Given the description of an element on the screen output the (x, y) to click on. 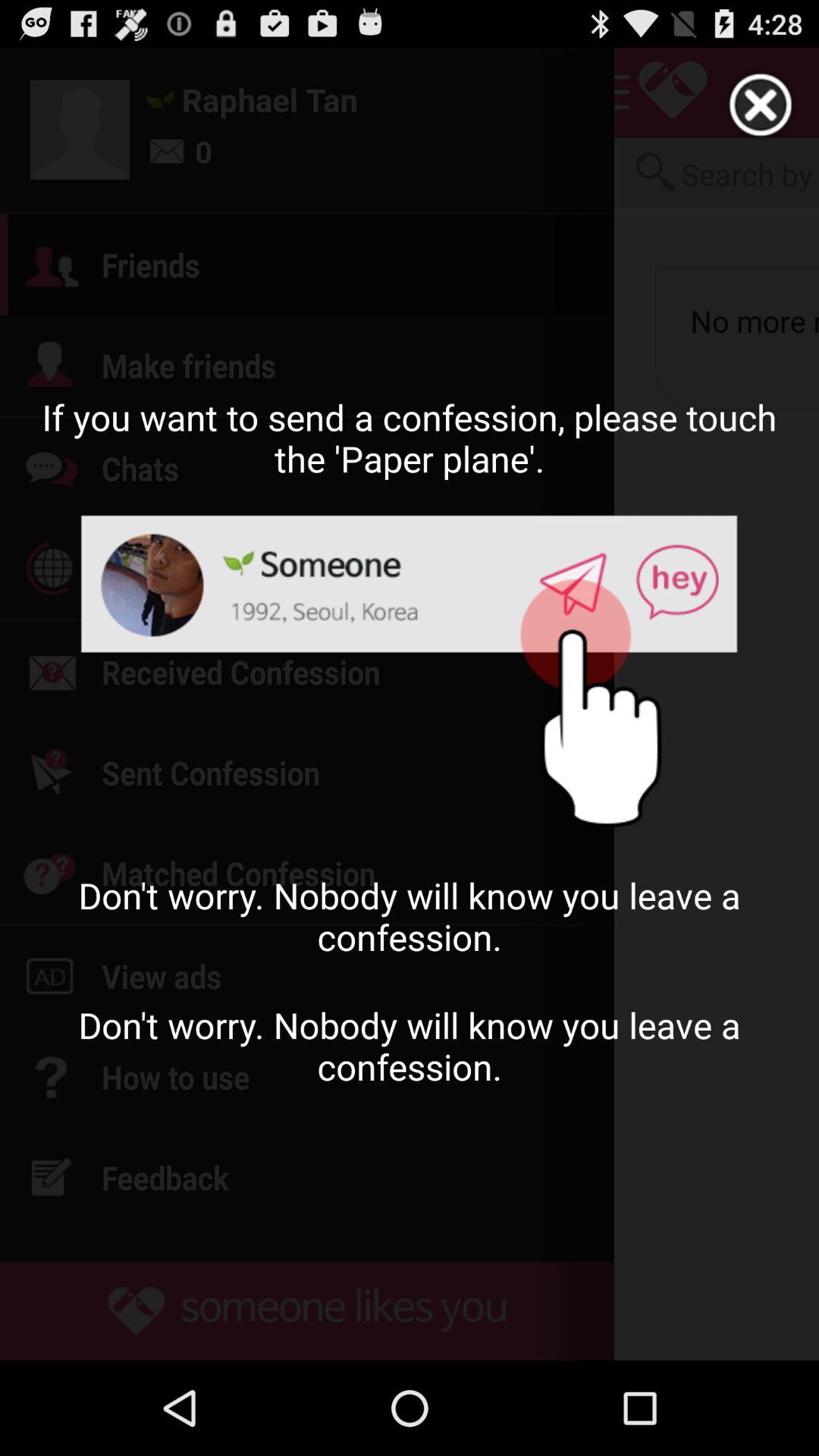
close content (761, 105)
